Given the description of an element on the screen output the (x, y) to click on. 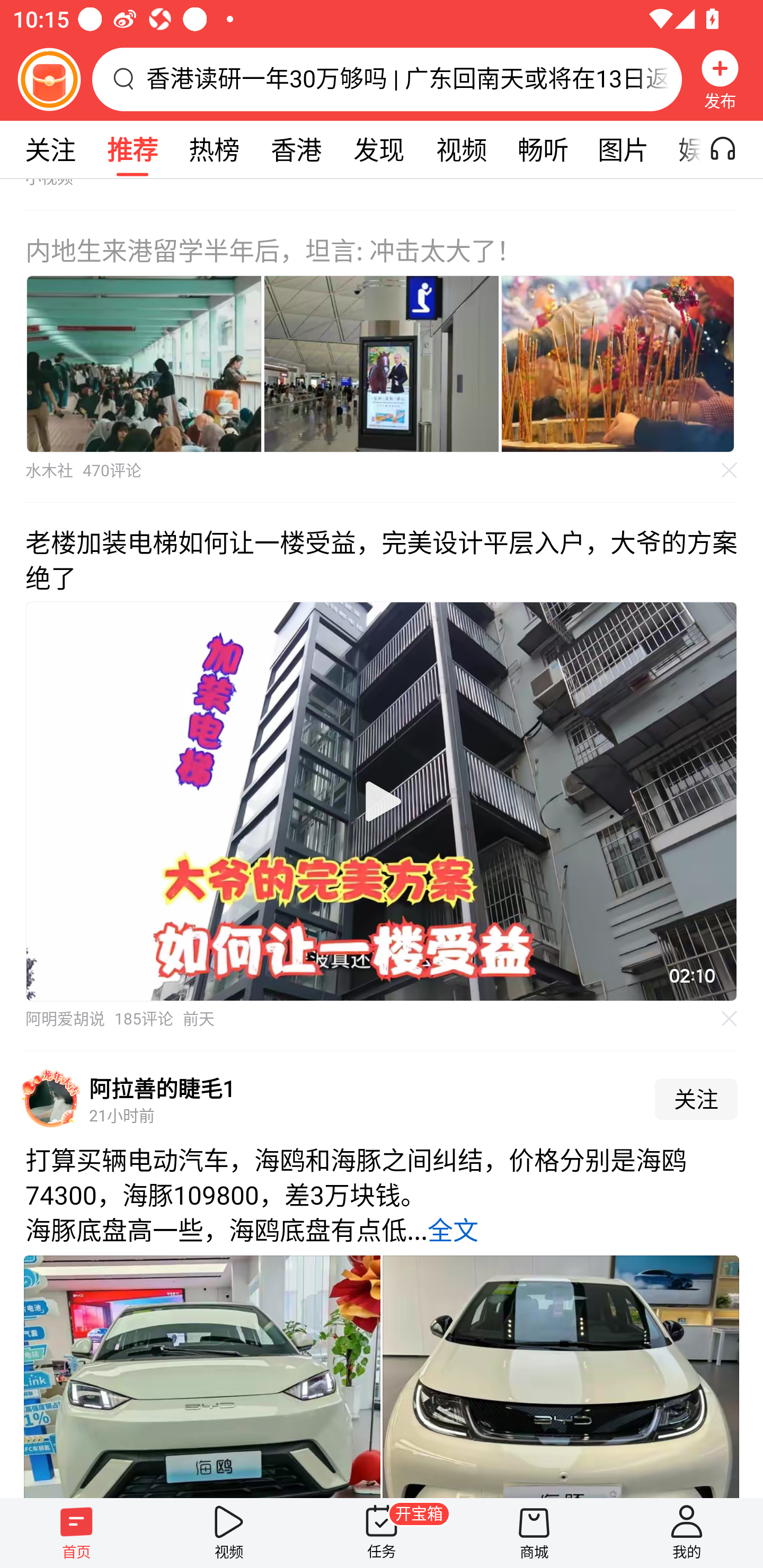
阅读赚金币 (48, 79)
发布 发布，按钮 (720, 78)
关注 (50, 149)
推荐 (132, 149)
热榜 (213, 149)
香港 (295, 149)
发现 (378, 149)
视频 (461, 149)
畅听 (542, 149)
图片 (623, 149)
听一听开关 (732, 149)
内容图片 (143, 363)
内容图片 (381, 363)
内容图片 (617, 363)
不感兴趣 (729, 470)
播放视频 视频播放器，双击屏幕打开播放控制 (381, 800)
播放视频 (381, 800)
不感兴趣 (729, 1019)
阿拉善的睫毛1 (162, 1087)
阿拉善的睫毛1头像 (50, 1099)
关注 (695, 1098)
首页 (76, 1532)
视频 (228, 1532)
任务 开宝箱 (381, 1532)
商城 (533, 1532)
我的 (686, 1532)
